Given the description of an element on the screen output the (x, y) to click on. 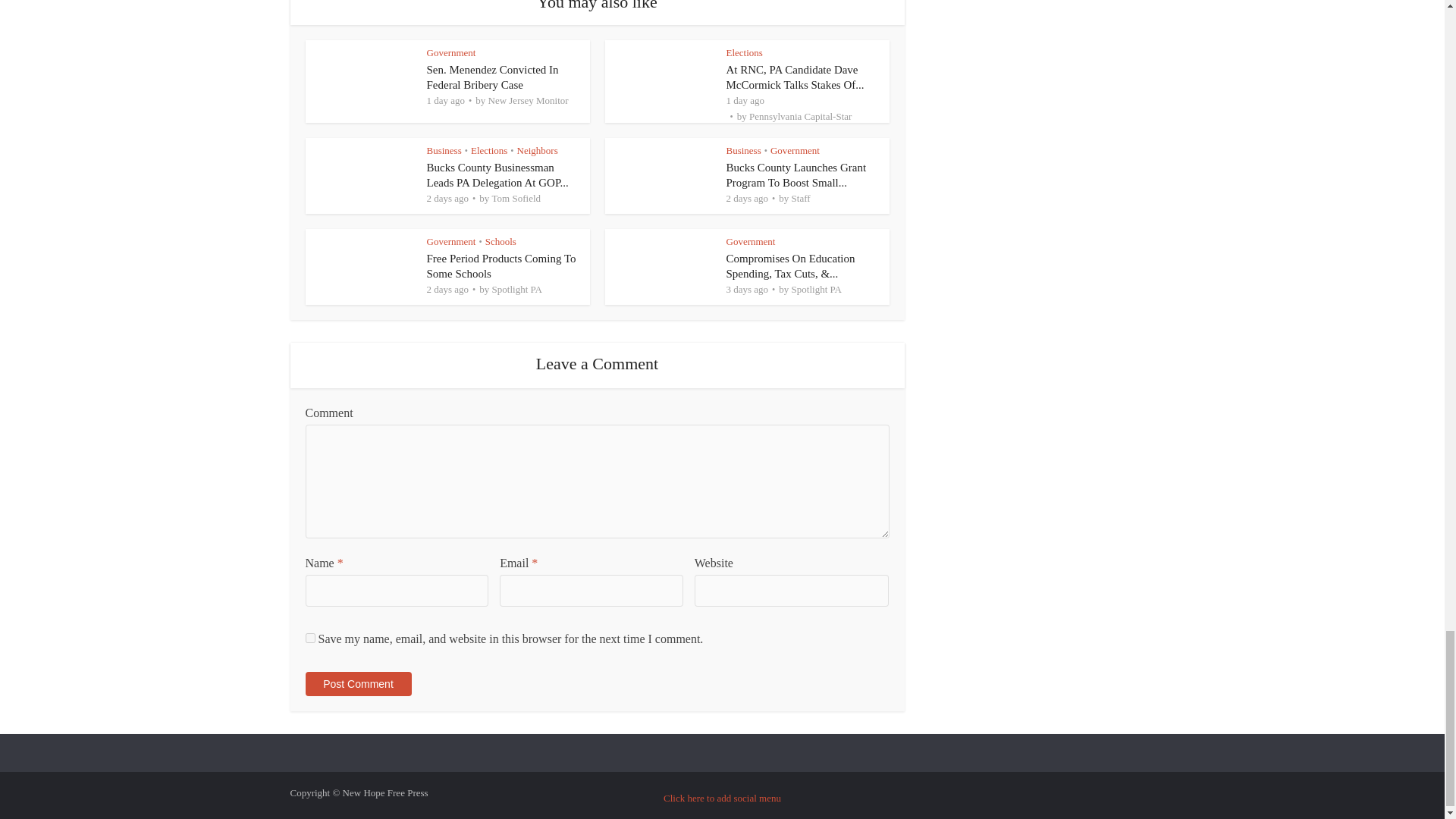
Post Comment (357, 683)
Sen. Menendez Convicted In Federal Bribery Case (491, 76)
Government (451, 52)
At RNC, PA Candidate Dave McCormick Talks Stakes Of Election (795, 76)
Bucks County Businessman Leads PA Delegation At GOP... (496, 175)
Free Period Products Coming To Some Schools (500, 266)
Neighbors (536, 150)
yes (309, 637)
At RNC, PA Candidate Dave McCormick Talks Stakes Of... (795, 76)
New Jersey Monitor (528, 100)
Elections (488, 150)
Business (443, 150)
Sen. Menendez Convicted In Federal Bribery Case (491, 76)
